Given the description of an element on the screen output the (x, y) to click on. 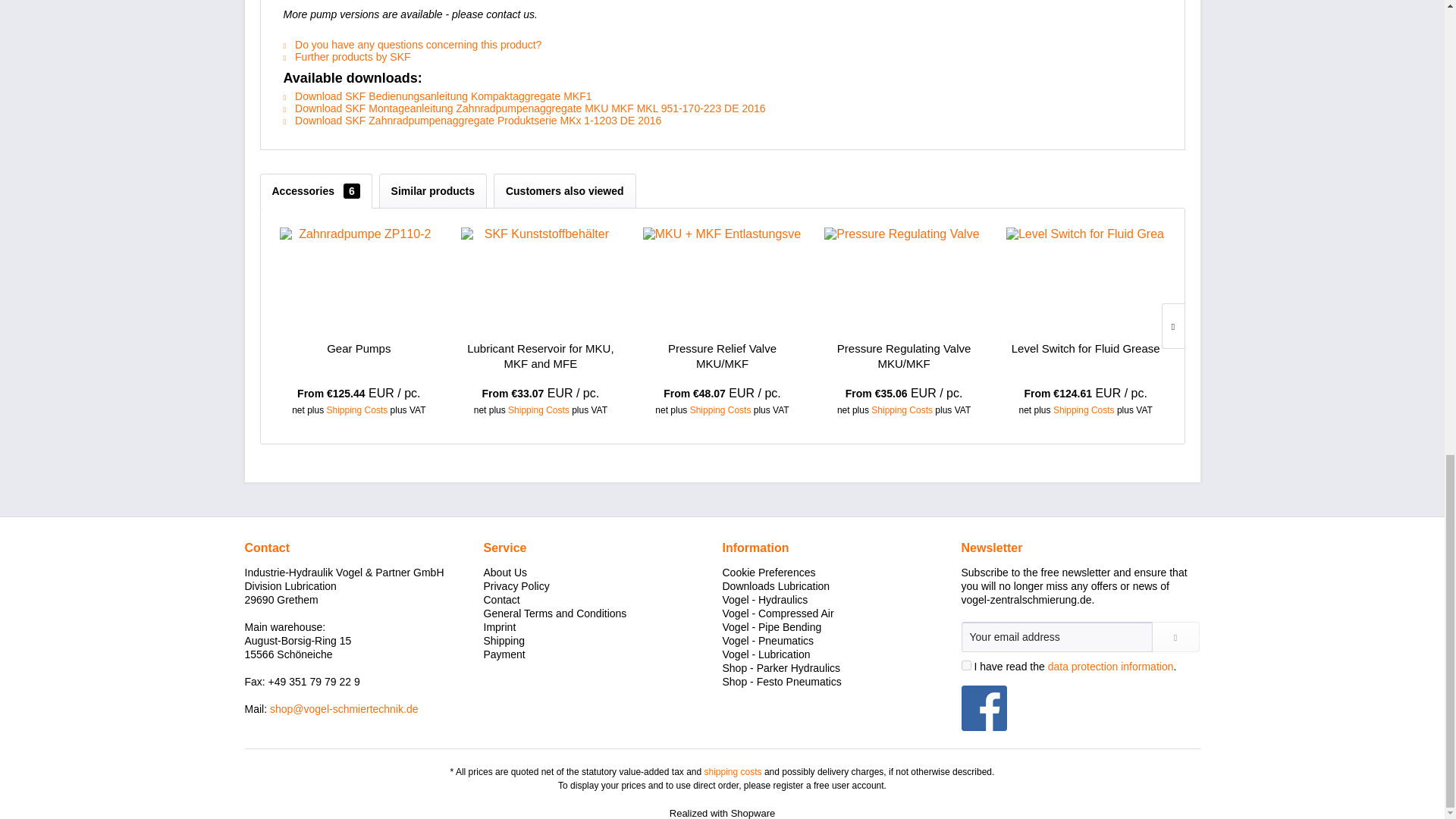
1 (965, 665)
